Given the description of an element on the screen output the (x, y) to click on. 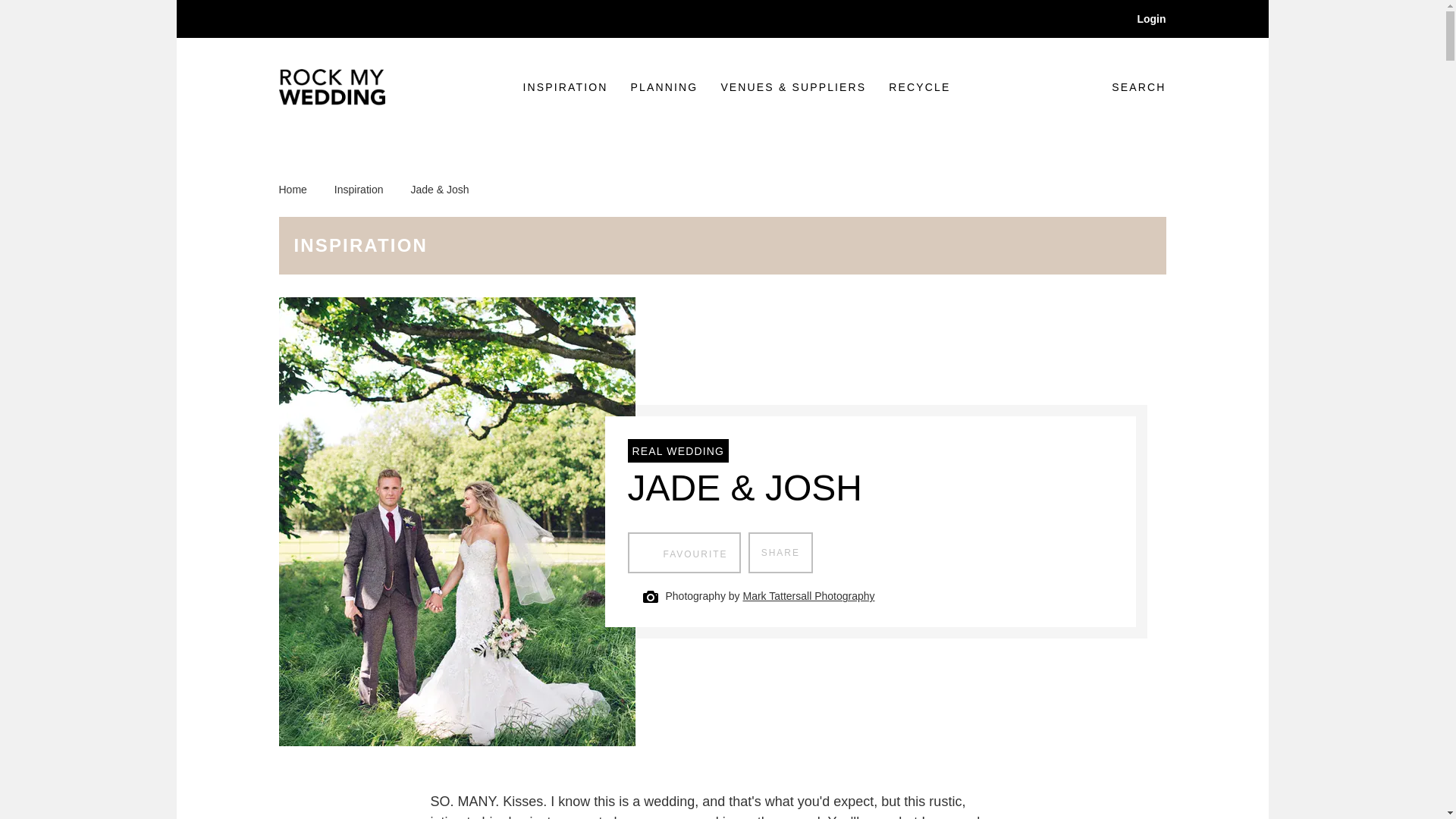
Mark Tattersall Photography (808, 596)
Home (301, 189)
INSPIRATION (565, 87)
PLANNING (664, 87)
SHARE (780, 552)
Login (1140, 18)
FAVOURITE (684, 552)
RECYCLE (919, 87)
Inspiration (366, 189)
